Given the description of an element on the screen output the (x, y) to click on. 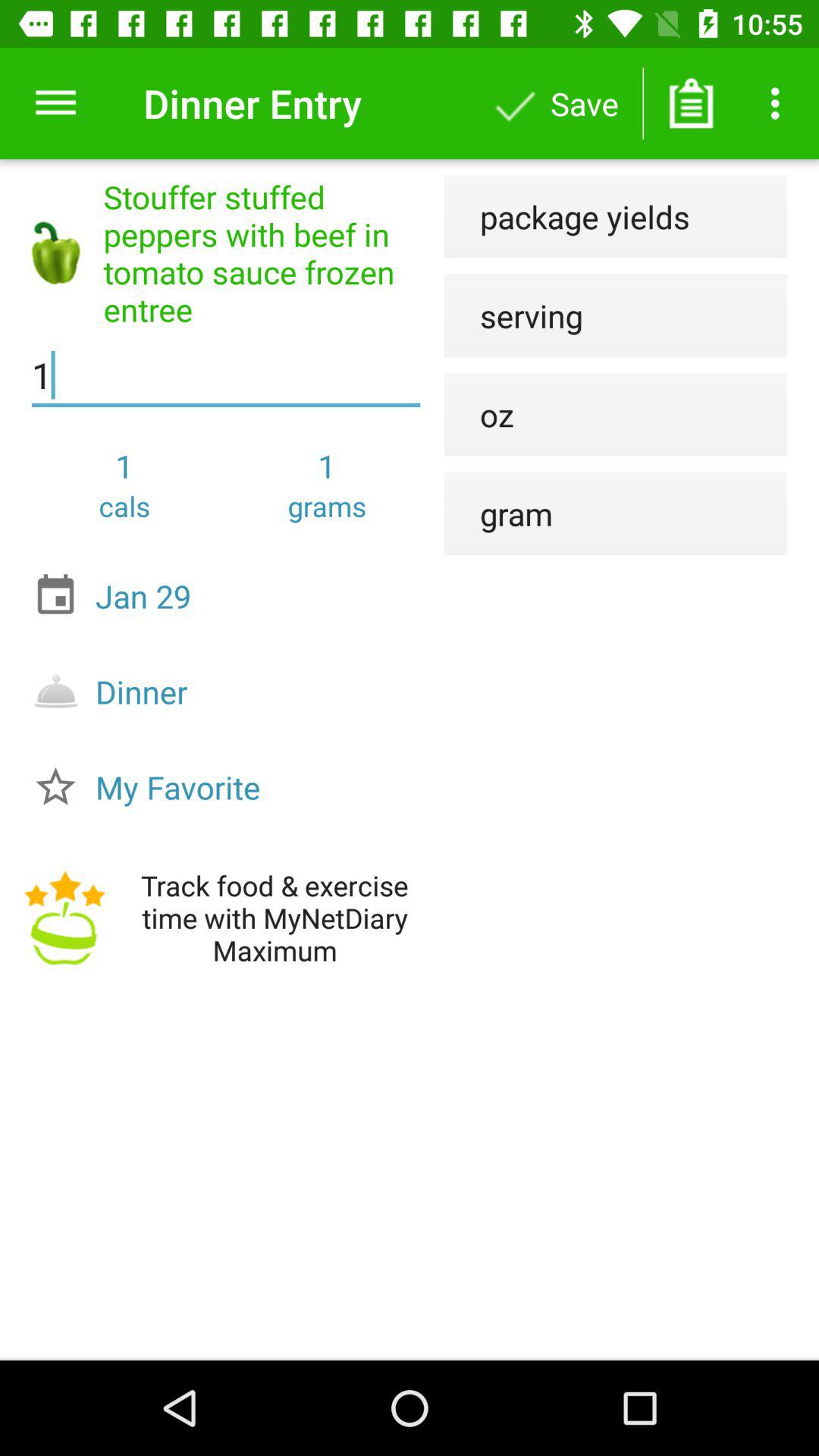
jump until my favorite icon (229, 786)
